Given the description of an element on the screen output the (x, y) to click on. 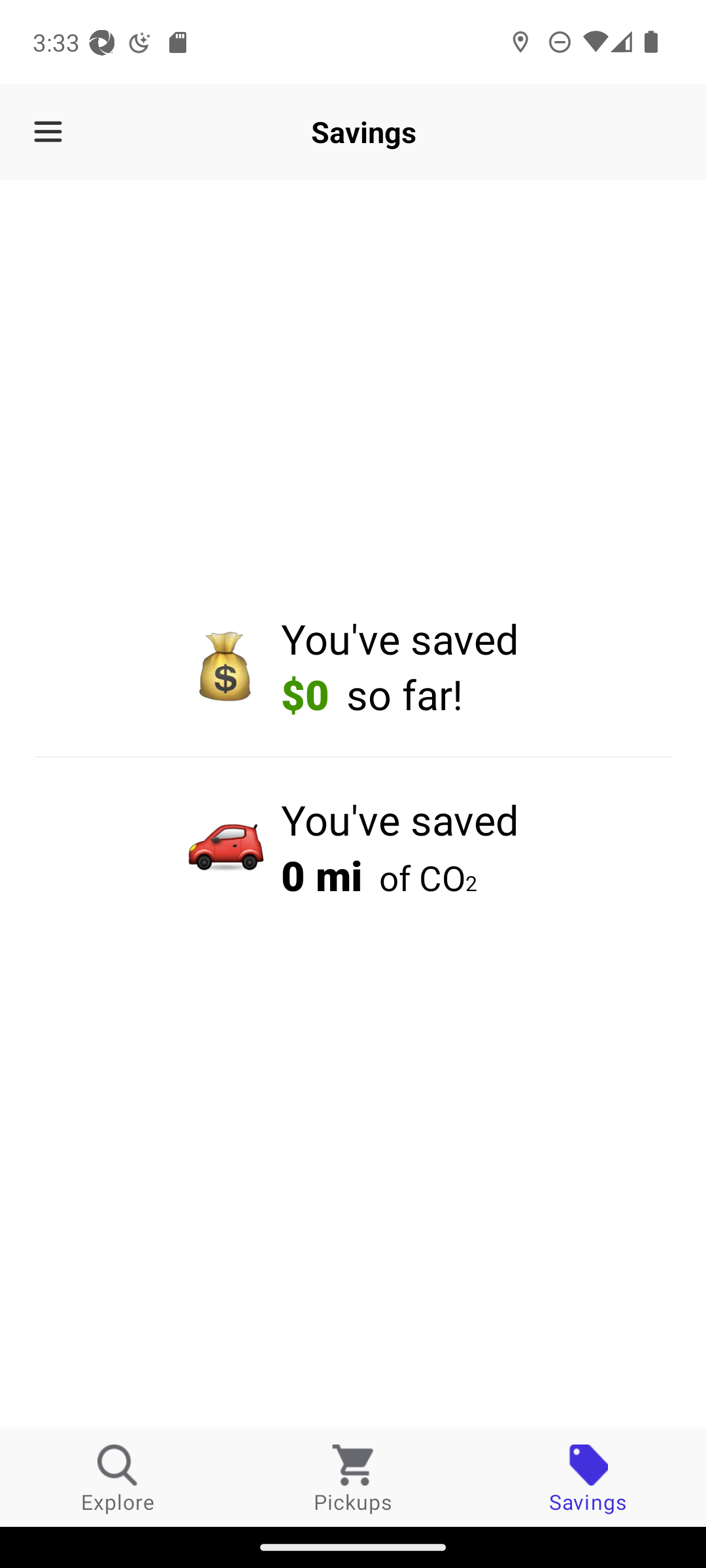
Navigate up (48, 131)
Explore (117, 1478)
Pickups (352, 1478)
